Given the description of an element on the screen output the (x, y) to click on. 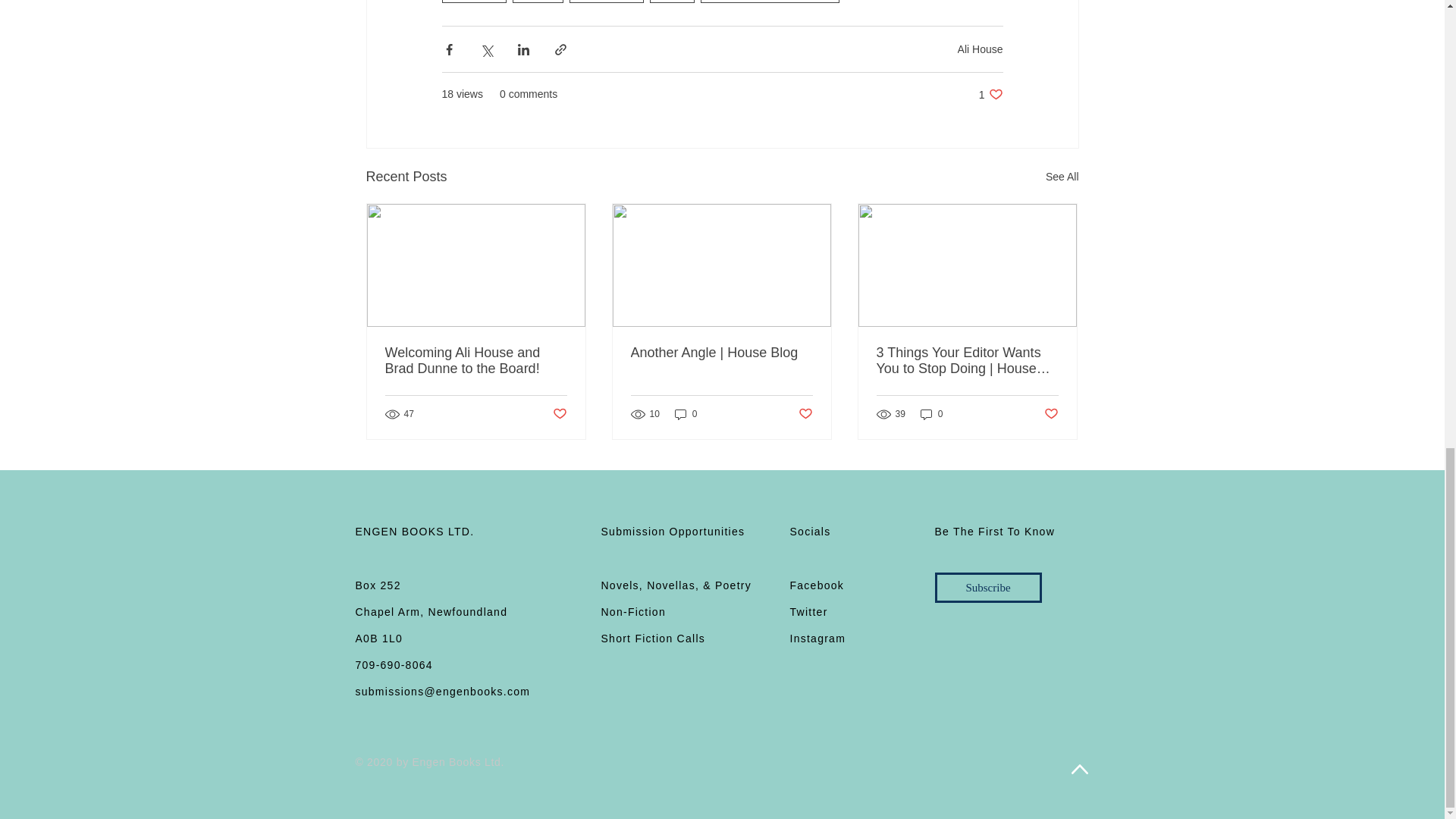
House Blog (606, 1)
Titles (671, 1)
Judging a book by its title (770, 1)
writing (537, 1)
Ali House (473, 1)
